Given the description of an element on the screen output the (x, y) to click on. 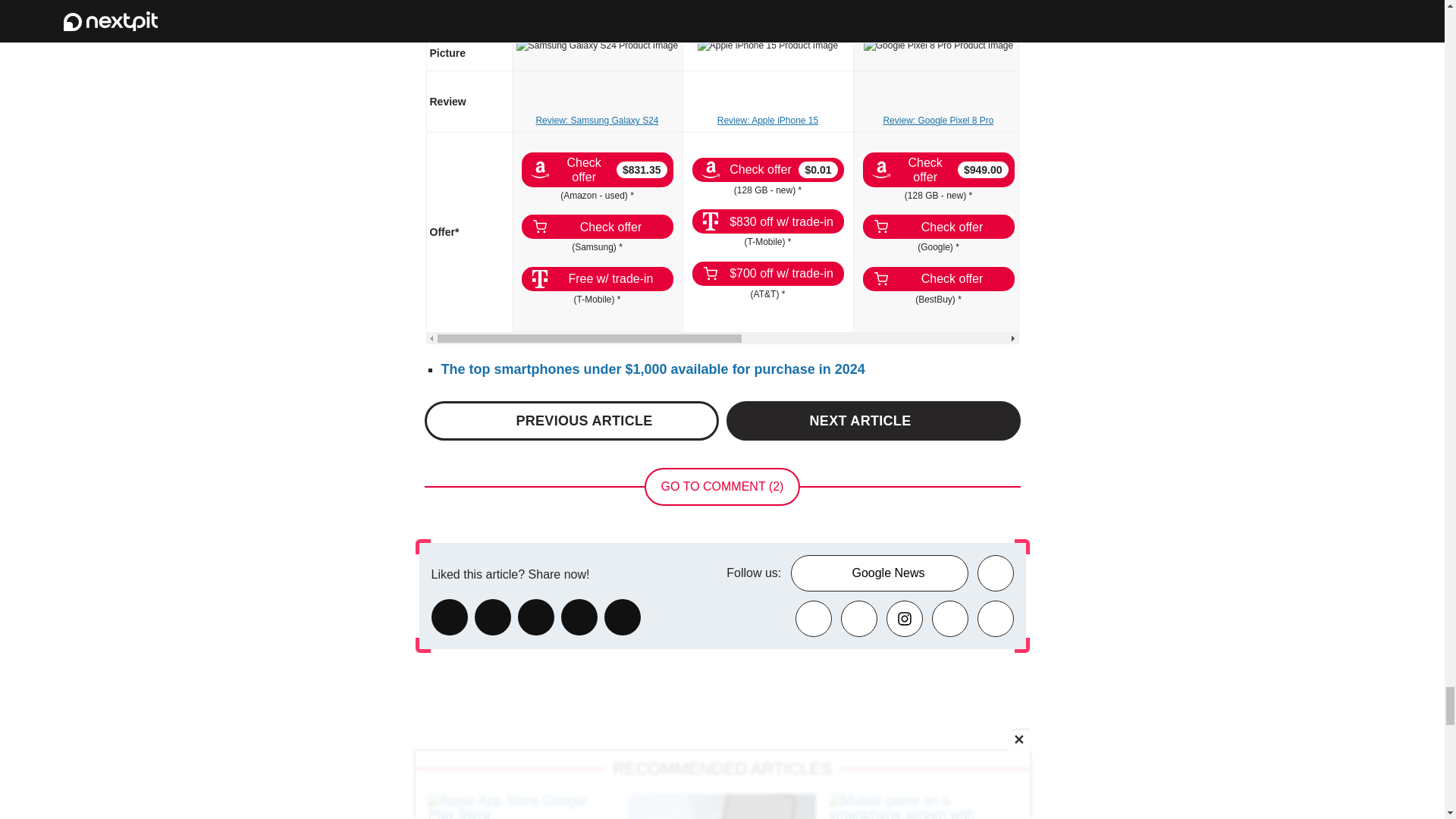
Google Pixel 8 Pro Product Image (938, 45)
Samsung Galaxy Z Flip 5 Product Image (1279, 52)
Apple iPhone 15 Product Image (767, 45)
Samsung Galaxy S24 Product Image (597, 45)
